Given the description of an element on the screen output the (x, y) to click on. 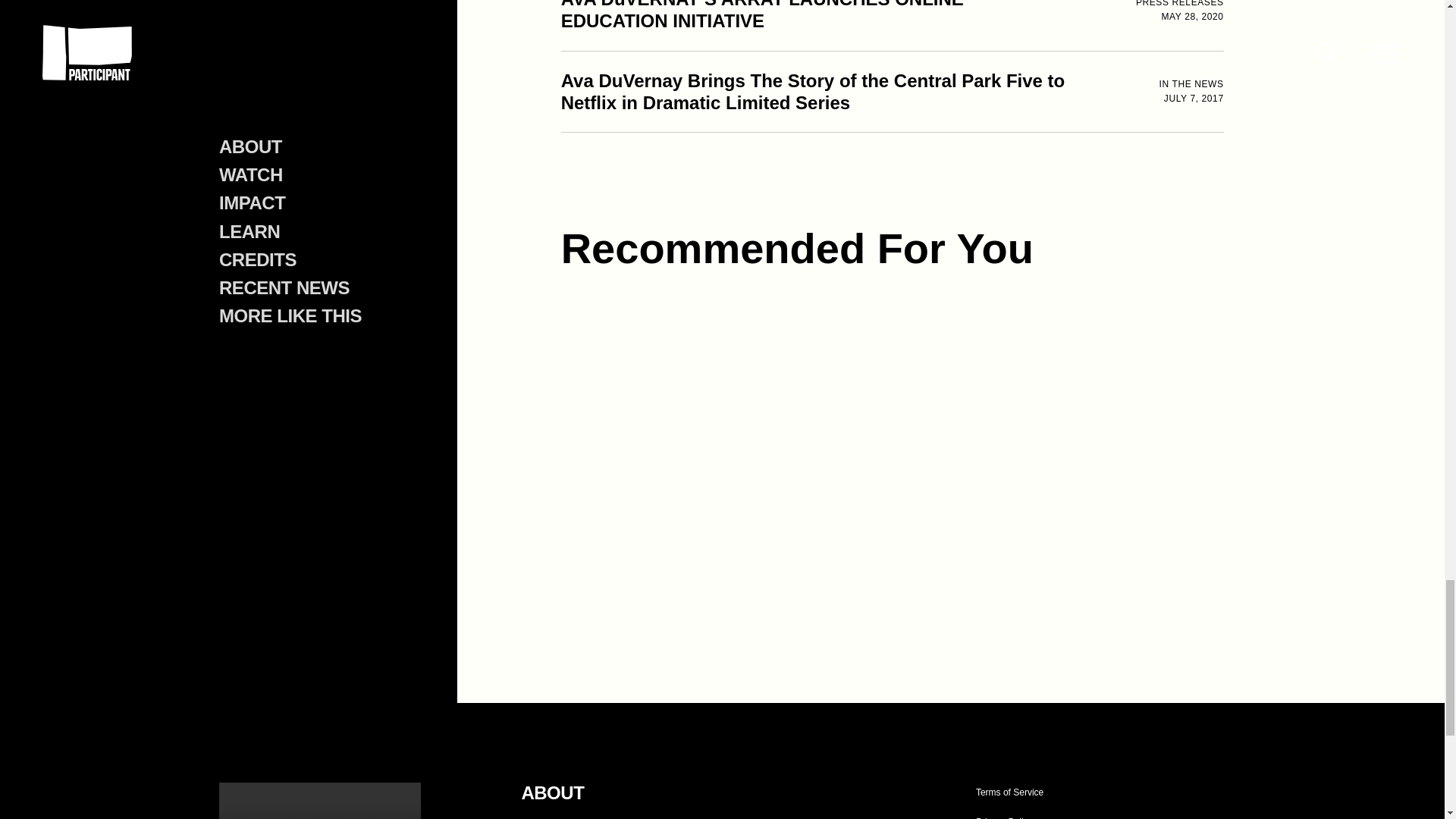
Terms of Service (1008, 793)
ABOUT (552, 792)
